Given the description of an element on the screen output the (x, y) to click on. 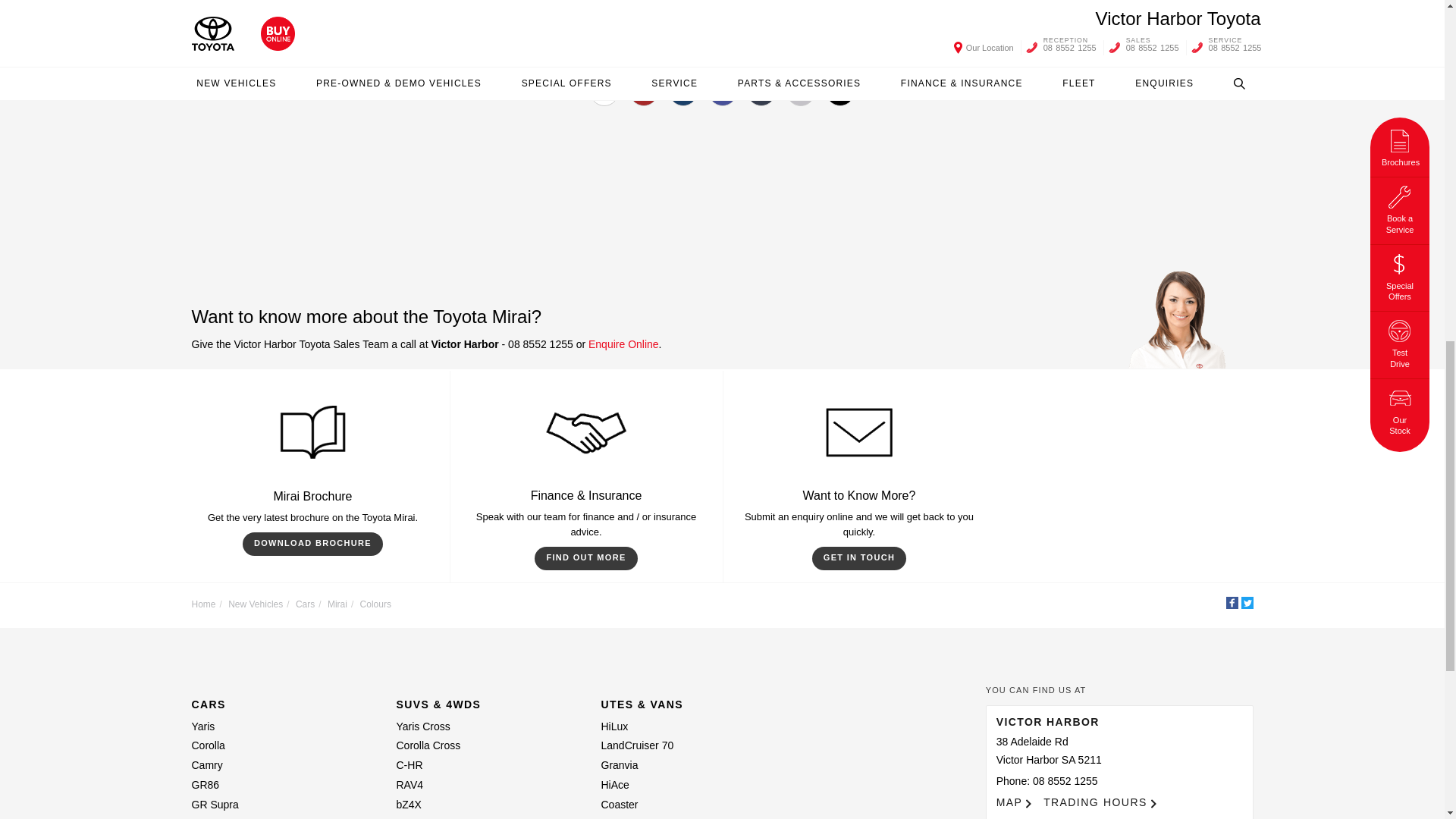
Arctic White (603, 91)
Liquid Metal (761, 91)
Dynamic Blue (682, 91)
Feverish Red (643, 91)
Silver Rush (800, 91)
Twitter (1246, 603)
Force Blue (721, 91)
Tarmac Black (839, 91)
Facebook (1232, 603)
